Given the description of an element on the screen output the (x, y) to click on. 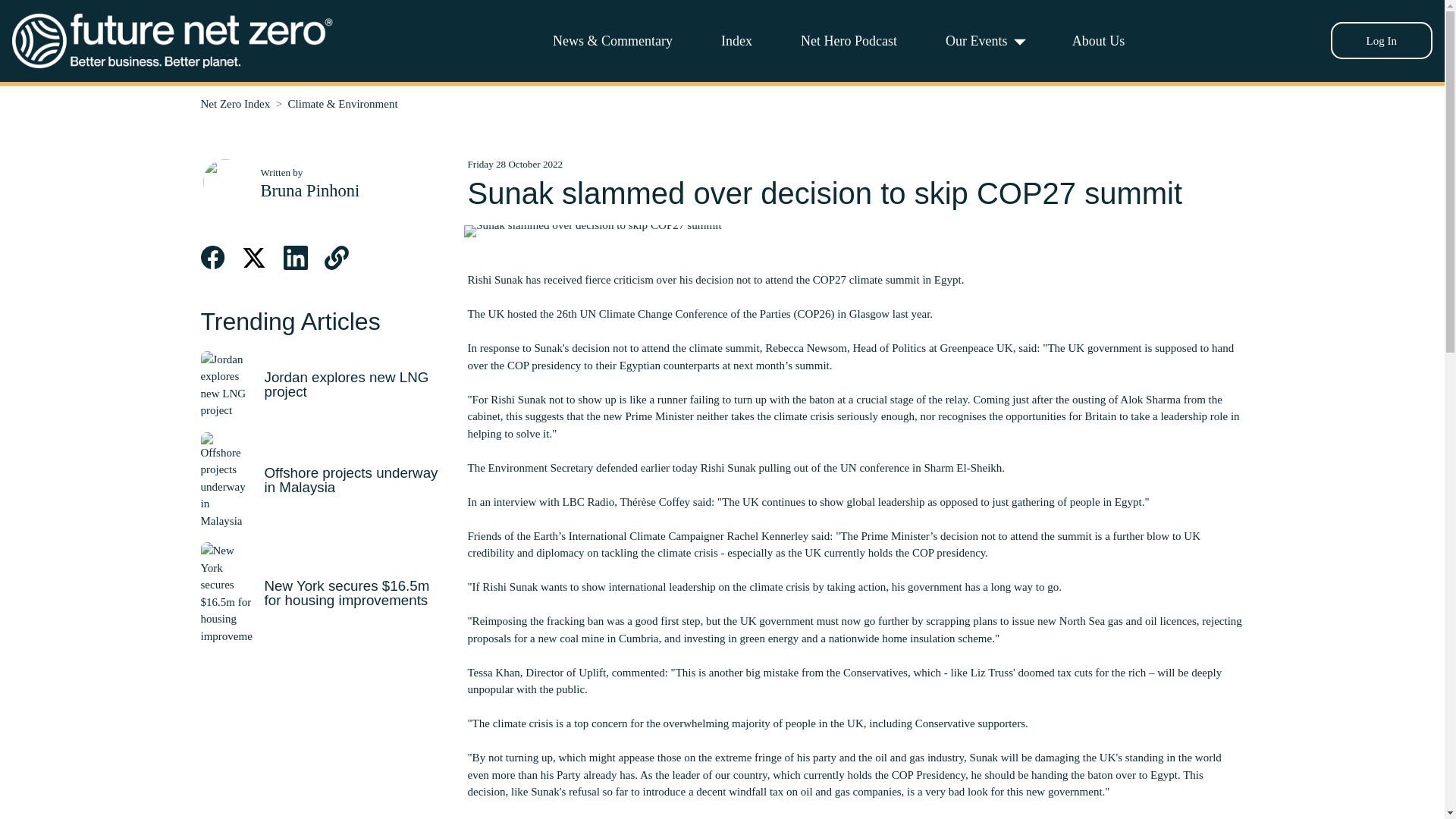
Rishi Sunak (518, 399)
About Us (1098, 40)
Share on Twitter (253, 257)
Share on Facebook (212, 257)
UK government (1104, 347)
Share on LinkedIn (295, 257)
Log In (1381, 40)
Uplift, (593, 672)
Net Zero Index (234, 102)
